Given the description of an element on the screen output the (x, y) to click on. 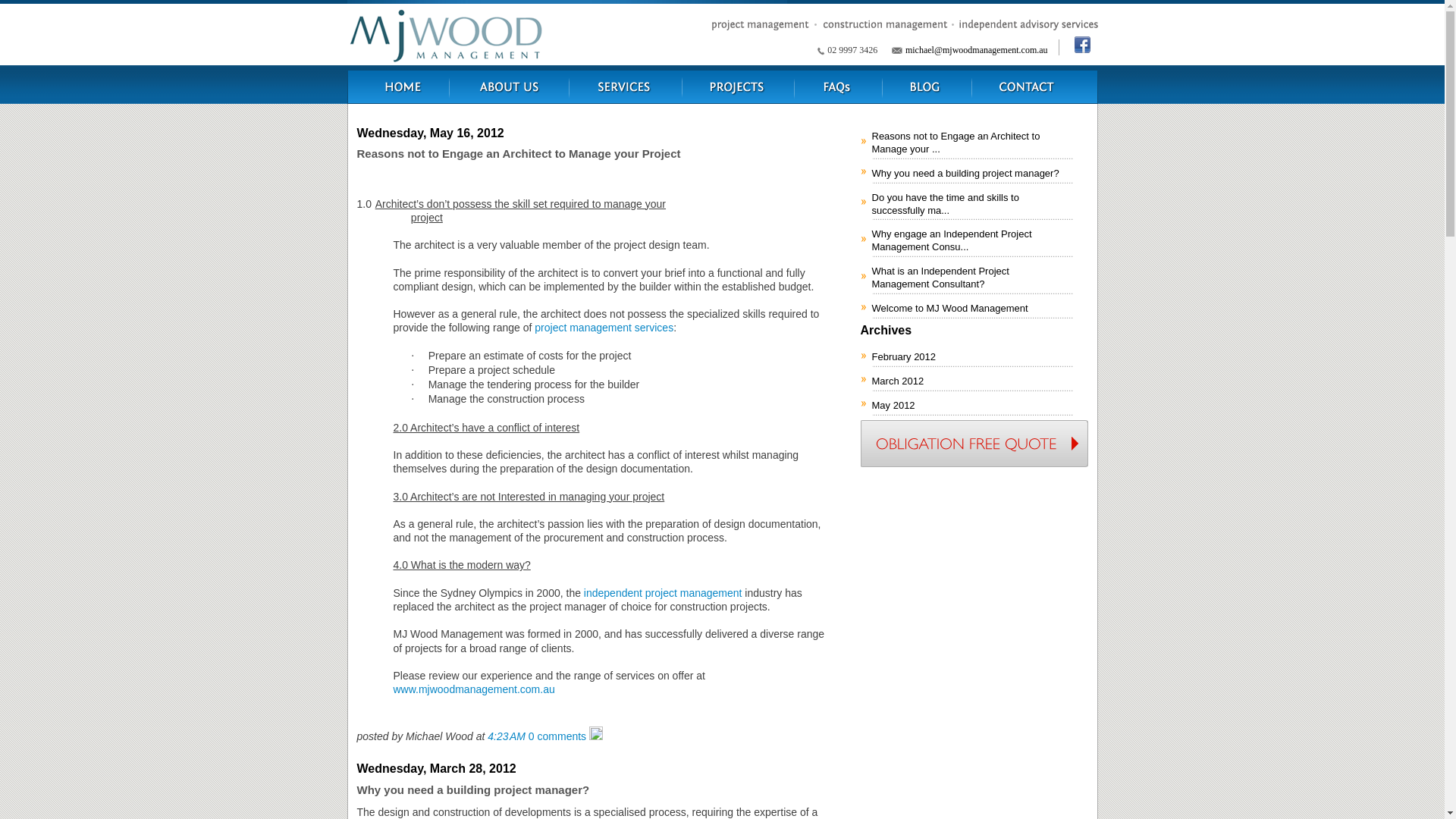
Reasons not to Engage an Architect to Manage your ... Element type: text (972, 141)
Facebook Element type: hover (1078, 47)
What is an Independent Project Management Consultant? Element type: text (972, 275)
Why engage an Independent Project Management Consu... Element type: text (972, 238)
Contact Element type: hover (1033, 82)
Do you have the time and skills to successfully ma... Element type: text (972, 202)
March 2012 Element type: text (972, 379)
project management services Element type: text (603, 327)
Obligation Free Quote Element type: hover (973, 443)
Services Element type: hover (624, 82)
michael@mjwoodmanagement.com.au Element type: text (976, 49)
Welcome to MJ Wood Management Element type: text (972, 306)
Projects Element type: hover (738, 82)
Blog Element type: hover (926, 82)
independent project management Element type: text (662, 592)
May 2012 Element type: text (972, 404)
0 comments Element type: text (557, 736)
Edit Post Element type: hover (595, 736)
Faqs Element type: hover (838, 82)
Why you need a building project manager? Element type: text (972, 172)
February 2012 Element type: text (972, 355)
www.mjwoodmanagement.com.au Element type: text (473, 689)
Home Element type: hover (398, 82)
About Us Element type: hover (508, 82)
